Given the description of an element on the screen output the (x, y) to click on. 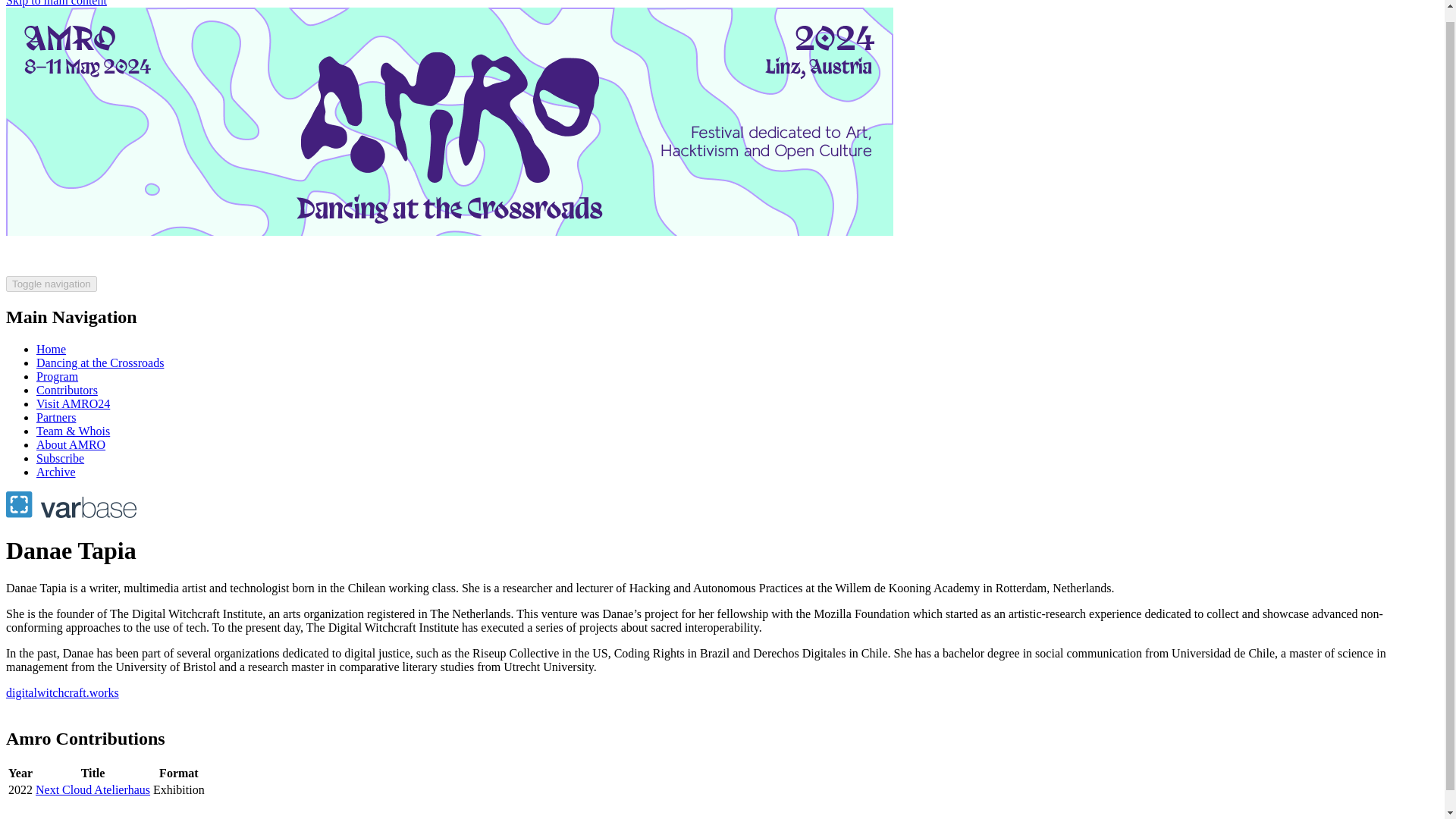
digitalwitchcraft.works (62, 692)
Subscribe (60, 458)
Dancing at the Crossroads (99, 362)
About AMRO (70, 444)
Home (50, 349)
Archive (55, 472)
Toggle navigation (51, 283)
Program (57, 376)
Next Cloud Atelierhaus (91, 788)
AMRO 2024 (449, 268)
